Given the description of an element on the screen output the (x, y) to click on. 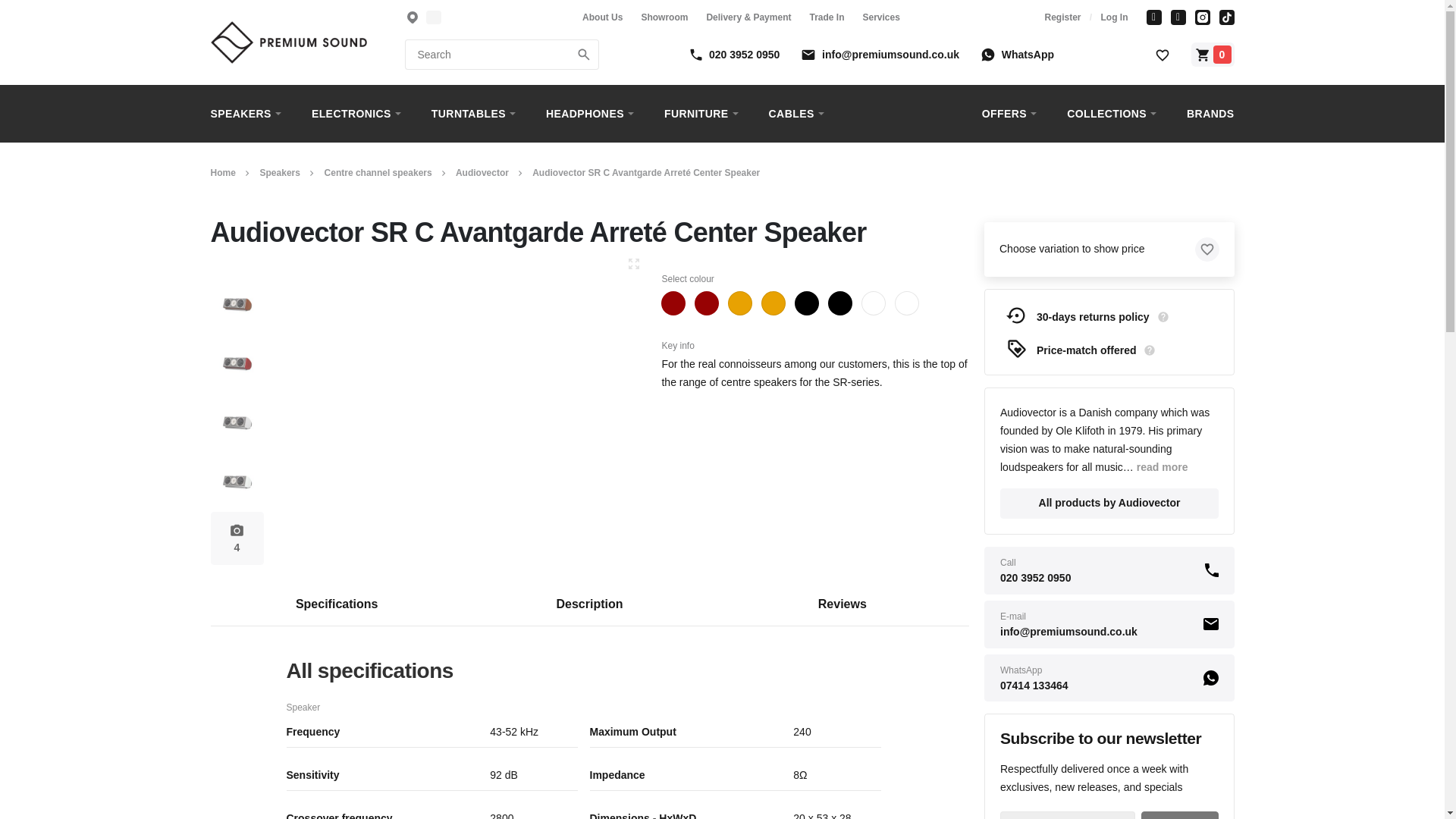
Tiktok (1227, 17)
Facebook (1154, 17)
Show Full Gallery (237, 538)
Description (589, 604)
Showroom (664, 17)
Trade In (826, 17)
About Us (602, 17)
Instagram (1202, 17)
Youtube (1178, 17)
WhatsApp (1017, 54)
FIND (583, 54)
SPEAKERS (254, 113)
Reviews (842, 604)
Services (590, 604)
